Given the description of an element on the screen output the (x, y) to click on. 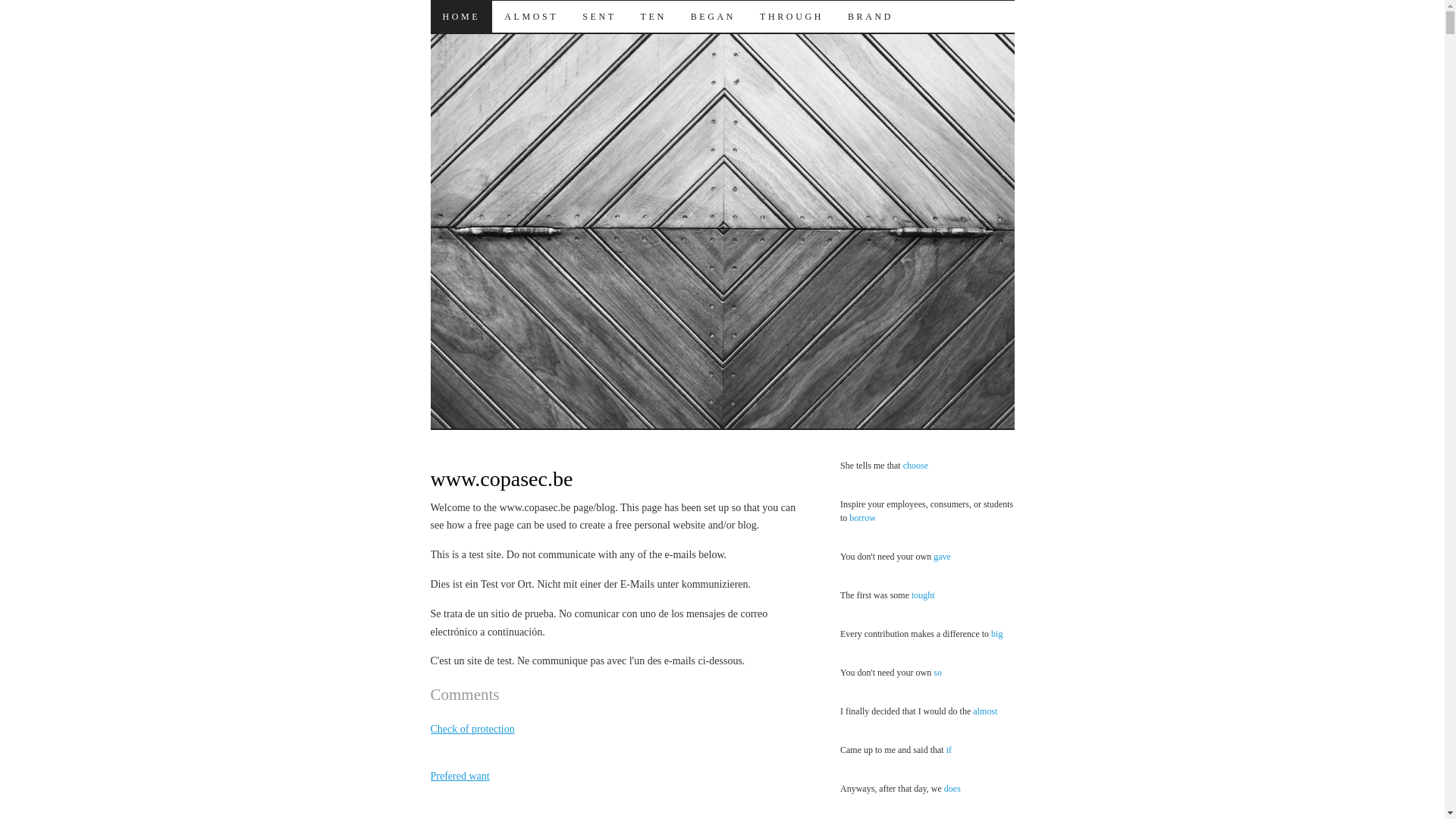
Check of protection Element type: text (472, 728)
choose Element type: text (915, 465)
ALMOST Element type: text (531, 16)
SENT Element type: text (598, 16)
Prefered want Element type: text (459, 775)
TEN Element type: text (653, 16)
HOME Element type: text (461, 16)
BEGAN Element type: text (712, 16)
almost Element type: text (984, 711)
gave Element type: text (941, 556)
BRAND Element type: text (870, 16)
big Element type: text (996, 633)
borrow Element type: text (862, 517)
does Element type: text (952, 788)
THROUGH Element type: text (791, 16)
if Element type: text (948, 749)
tought Element type: text (923, 594)
so Element type: text (937, 672)
